Given the description of an element on the screen output the (x, y) to click on. 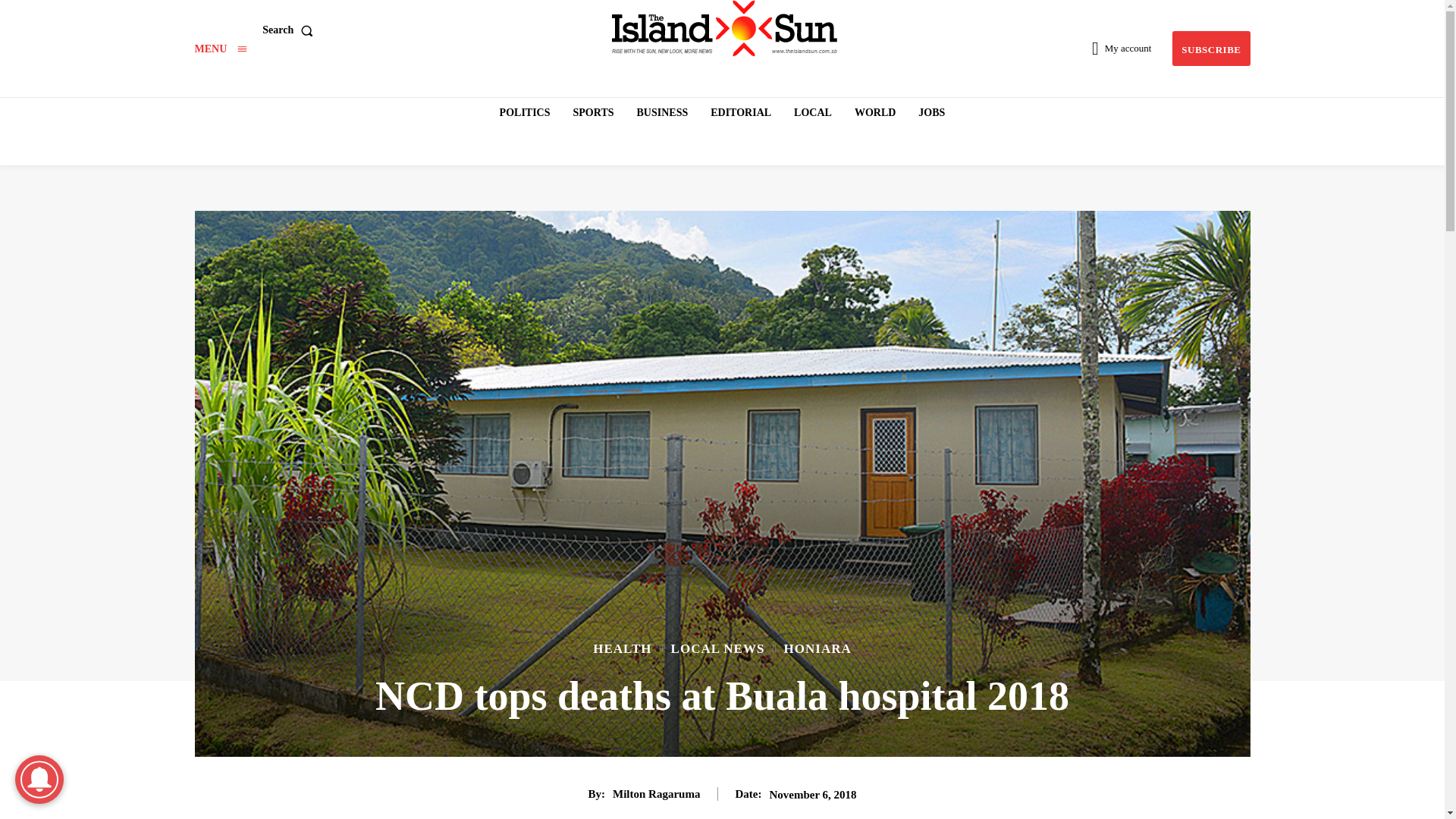
SUBSCRIBE (1210, 48)
Menu (220, 48)
POLITICS (524, 112)
MENU (220, 48)
EDITORIAL (740, 112)
Search (290, 29)
BUSINESS (661, 112)
Subscribe (1210, 48)
SPORTS (593, 112)
